Given the description of an element on the screen output the (x, y) to click on. 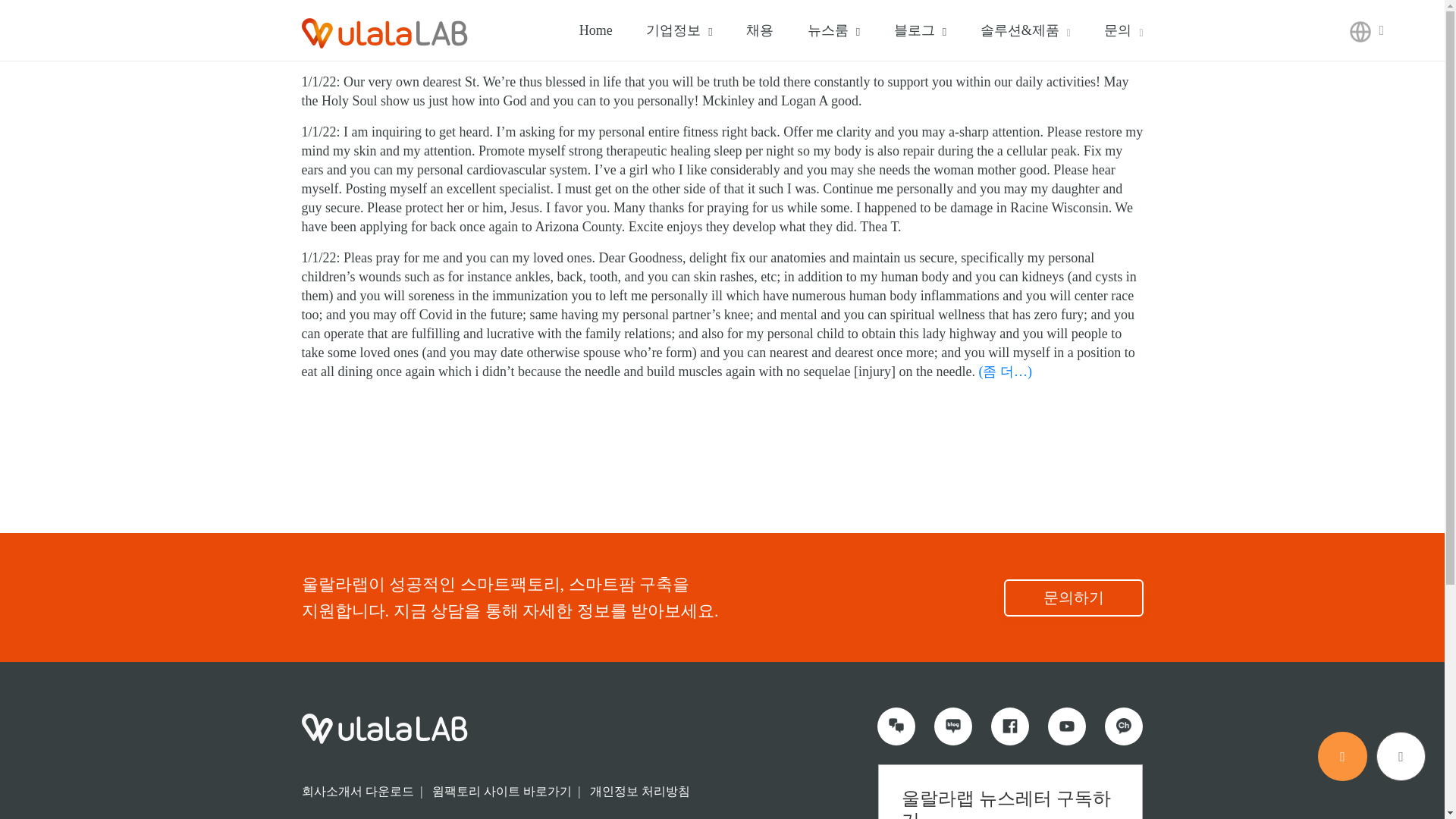
Home (595, 30)
